Given the description of an element on the screen output the (x, y) to click on. 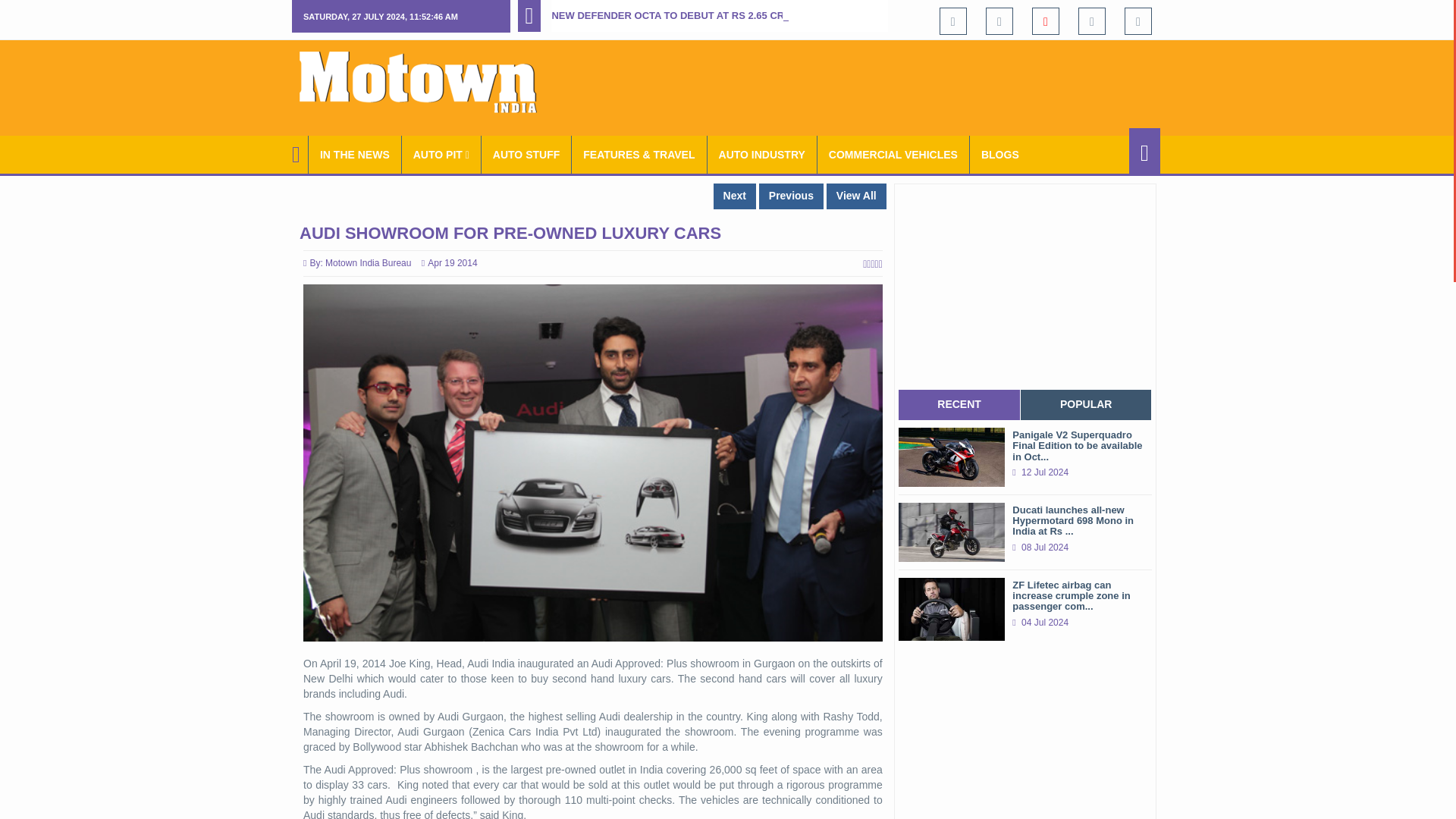
BLOGS (999, 154)
New Defender Octa to debut at Rs 2.65 crore onward (702, 15)
View All (856, 196)
Wireless charging system developed on Kia Soul EV (791, 196)
Advertisement (884, 85)
NEW DEFENDER OCTA TO DEBUT AT RS 2.65 CRORE ONWARD (702, 15)
Motown India on LinkedIn (1137, 21)
Motown India on Facebook (952, 21)
AUTO STUFF (526, 154)
View All - Motown India (856, 196)
MotownIndia (427, 81)
Auto Stuff by Motown India (526, 154)
Motown India on Instagram (1091, 21)
COMMERCIAL VEHICLES (892, 154)
